Given the description of an element on the screen output the (x, y) to click on. 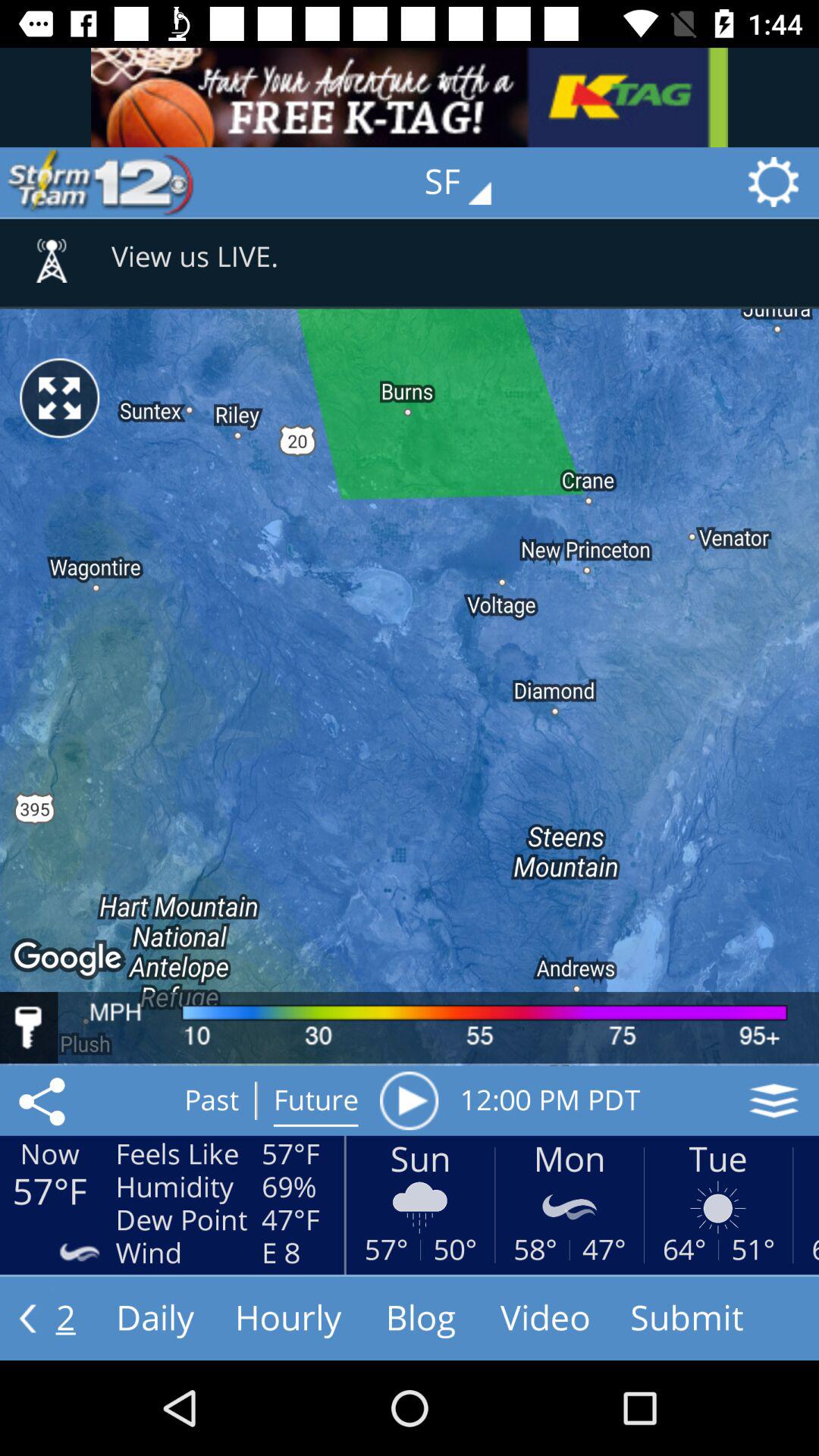
turn on the icon next to feels like (44, 1100)
